Given the description of an element on the screen output the (x, y) to click on. 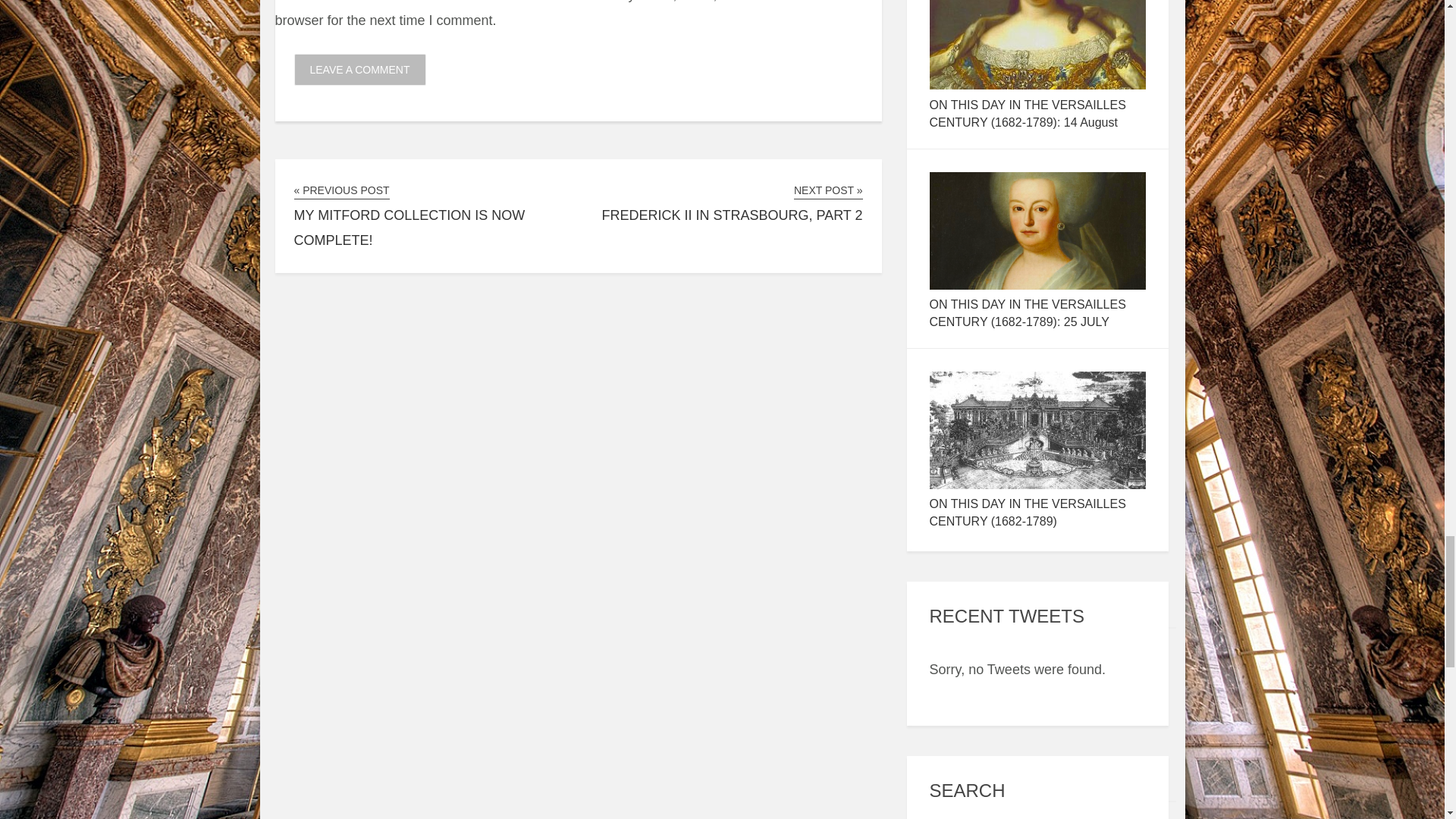
Leave a Comment (360, 69)
